Given the description of an element on the screen output the (x, y) to click on. 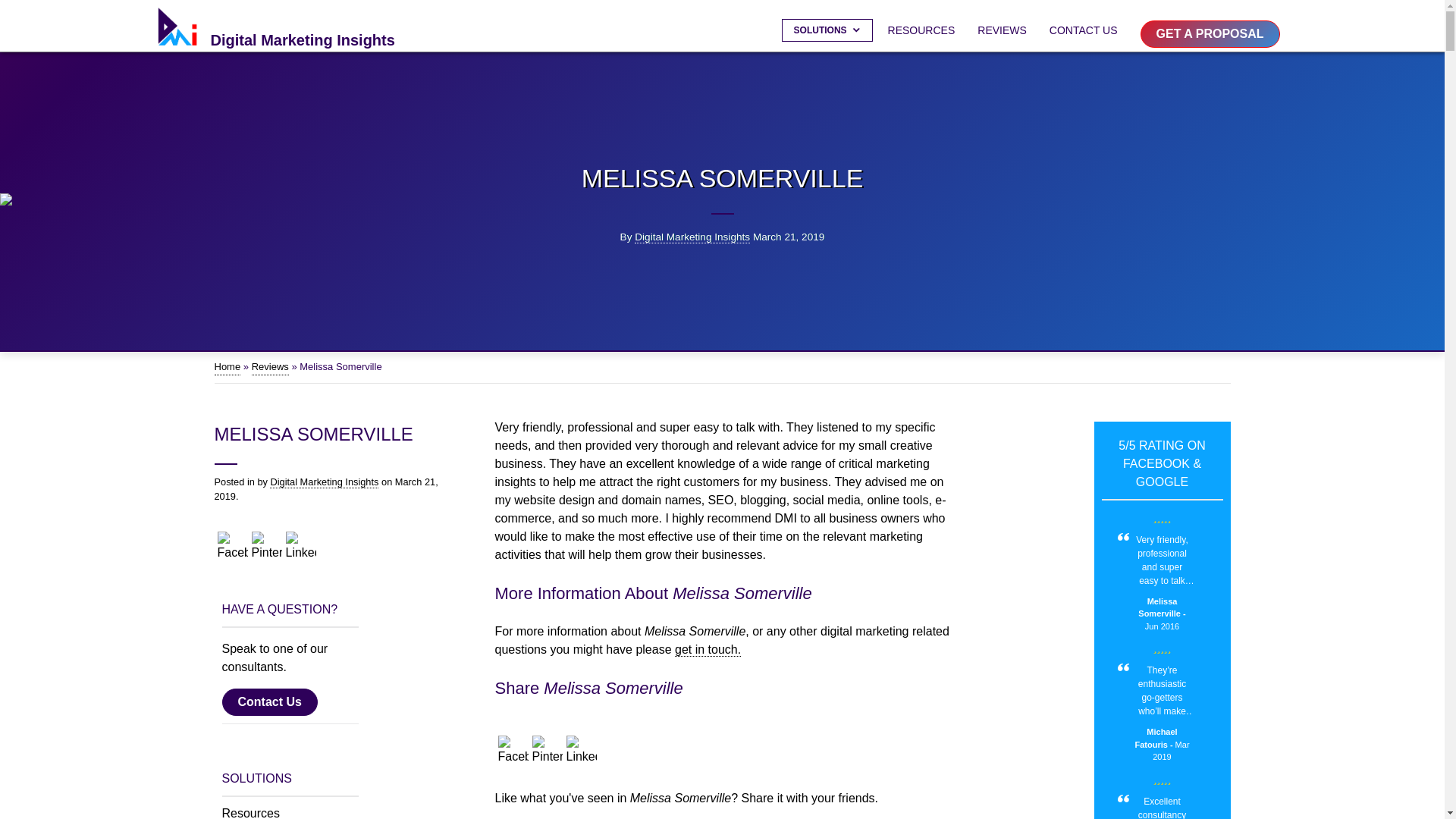
GET A PROPOSAL (1209, 33)
Facebook (512, 750)
CONTACT US (1083, 30)
Pinterest (266, 546)
Digital Marketing Insights (323, 481)
SOLUTIONS (826, 30)
Resources (289, 811)
Contact Us (269, 701)
REVIEWS (1001, 30)
Facebook (231, 546)
LinkedIn (300, 546)
LinkedIn (580, 750)
Contact Us (289, 705)
GET A PROPOSAL (1213, 33)
Reviews (269, 367)
